Given the description of an element on the screen output the (x, y) to click on. 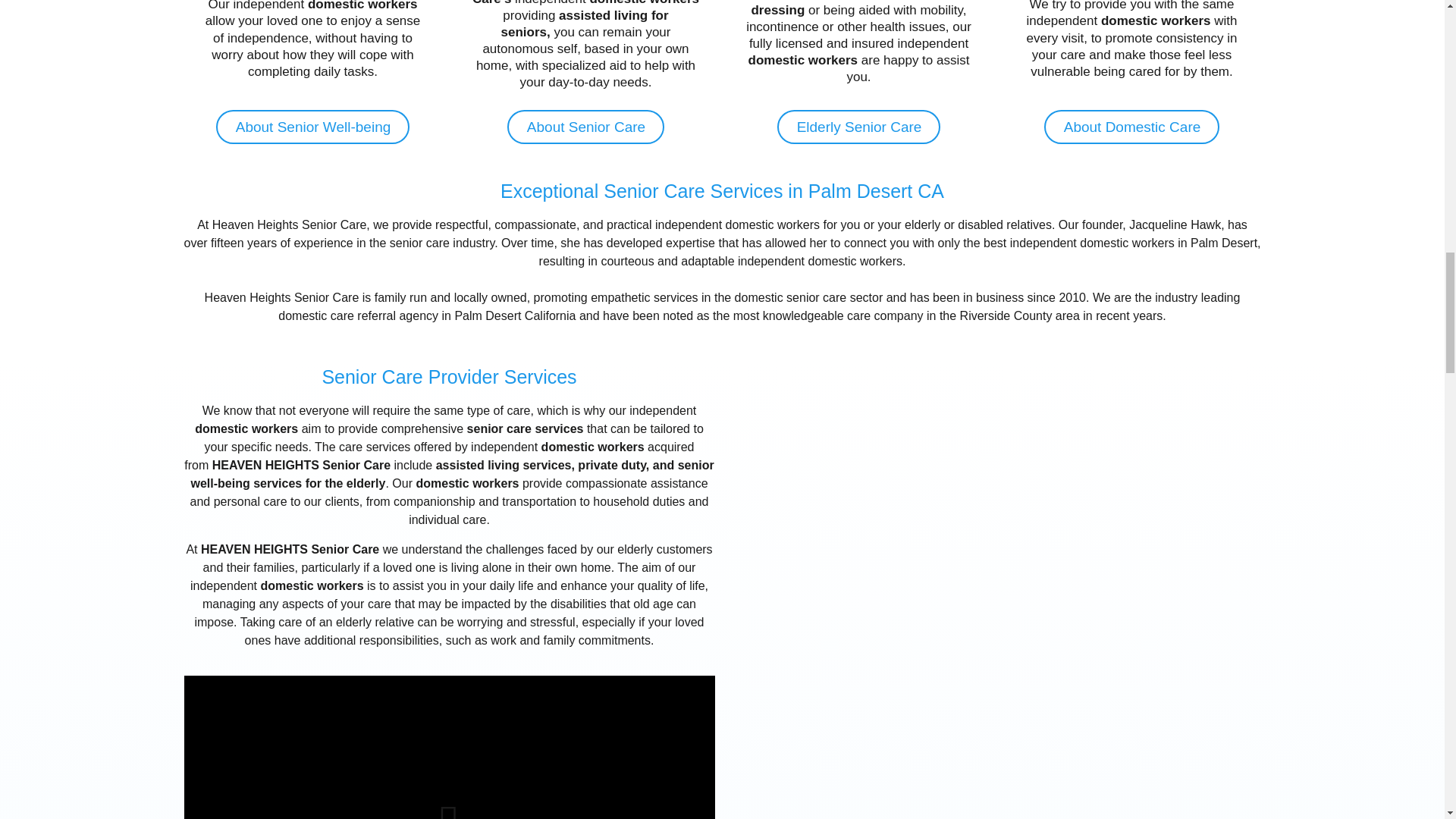
About Senior Care (584, 126)
About Senior Well-being (312, 126)
